Given the description of an element on the screen output the (x, y) to click on. 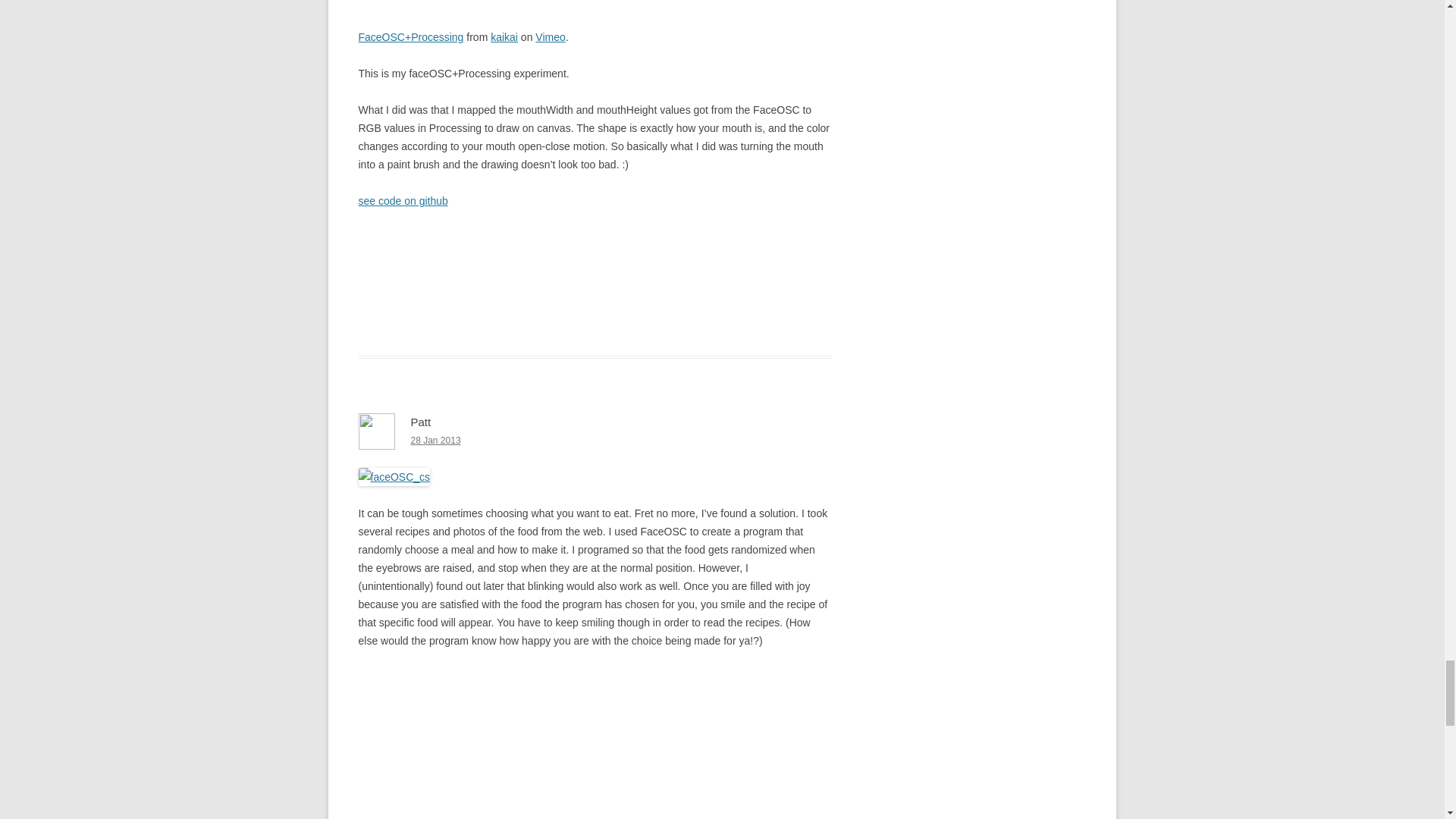
Permalink to Patt-FaceOSC (435, 439)
